Given the description of an element on the screen output the (x, y) to click on. 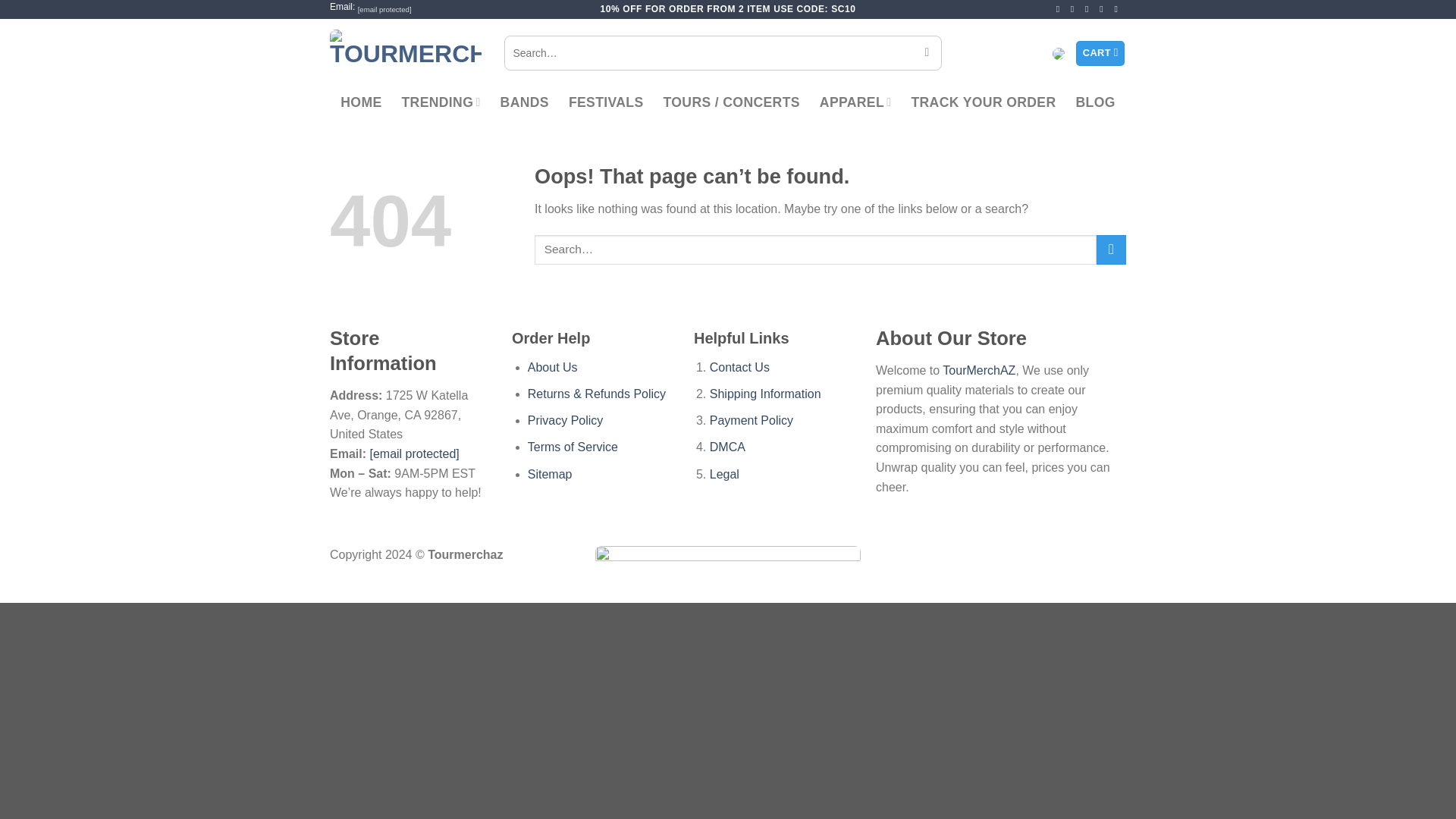
TRACK YOUR ORDER (983, 102)
About Us (552, 367)
Privacy Policy (565, 420)
CART (1099, 53)
Cart (1099, 53)
DMCA (727, 446)
Search (926, 53)
BLOG (1095, 102)
Sitemap (549, 473)
BANDS (524, 102)
Payment Policy (751, 420)
TRENDING (440, 101)
Shipping Information (765, 393)
Contact Us (740, 367)
FESTIVALS (606, 102)
